Given the description of an element on the screen output the (x, y) to click on. 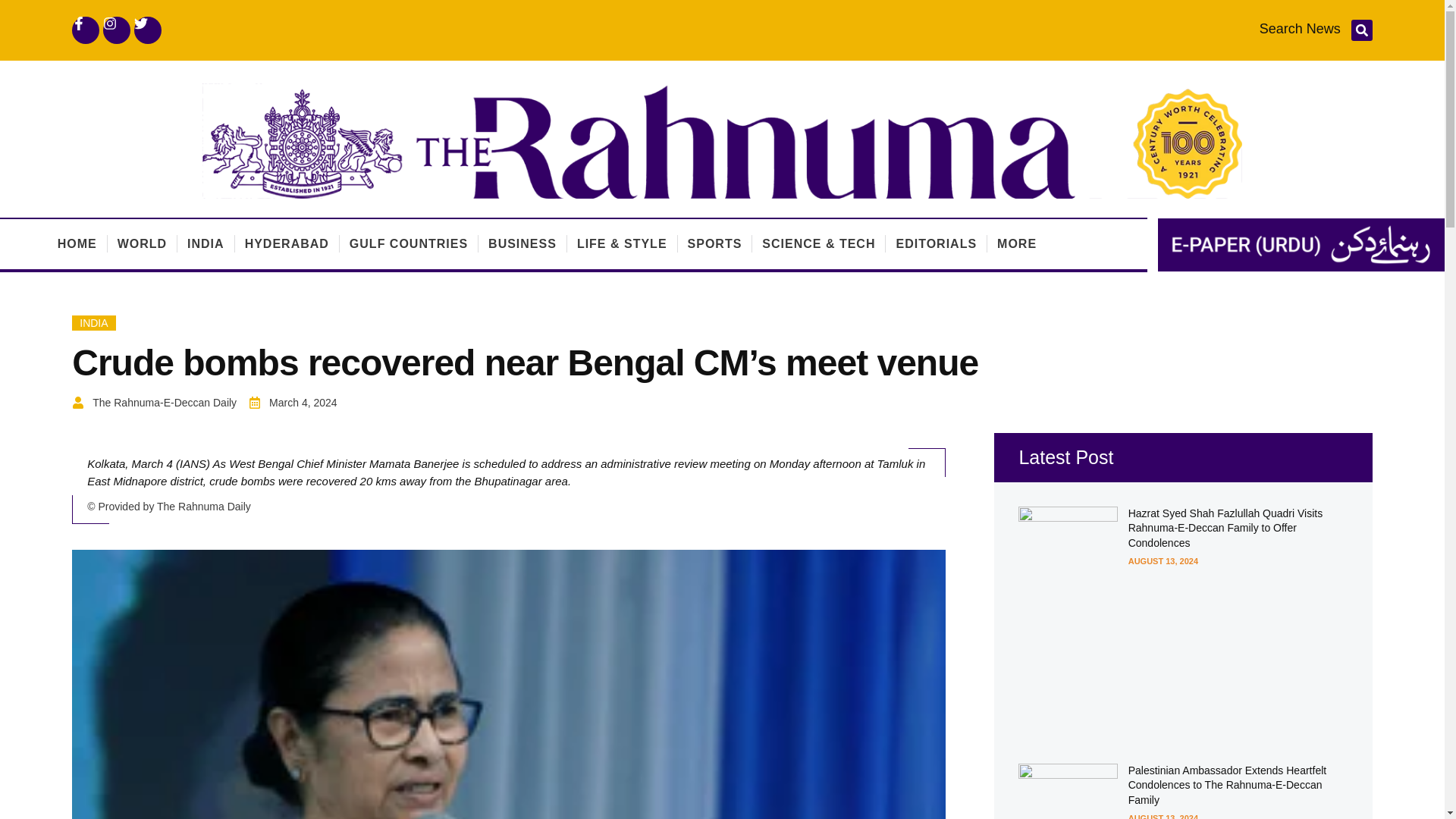
INDIA (93, 322)
WORLD (142, 244)
EDITORIALS (935, 244)
The Rahnuma-E-Deccan Daily (153, 403)
SPORTS (714, 244)
HYDERABAD (286, 244)
BUSINESS (521, 244)
GULF COUNTRIES (408, 244)
